Given the description of an element on the screen output the (x, y) to click on. 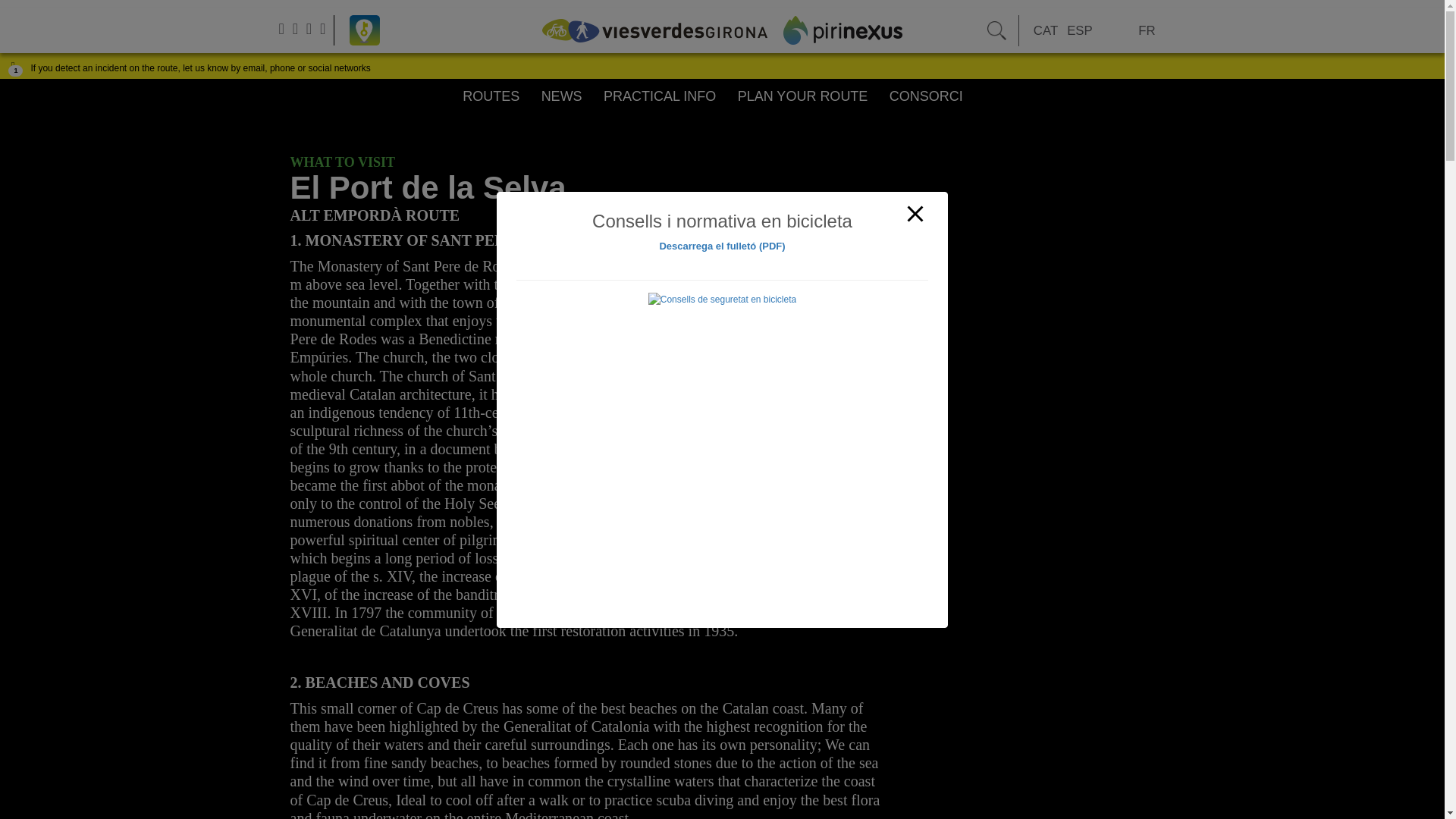
CAT (1045, 31)
ENG (1115, 31)
FR (1146, 31)
ROUTES (491, 97)
ESP (1079, 31)
